Given the description of an element on the screen output the (x, y) to click on. 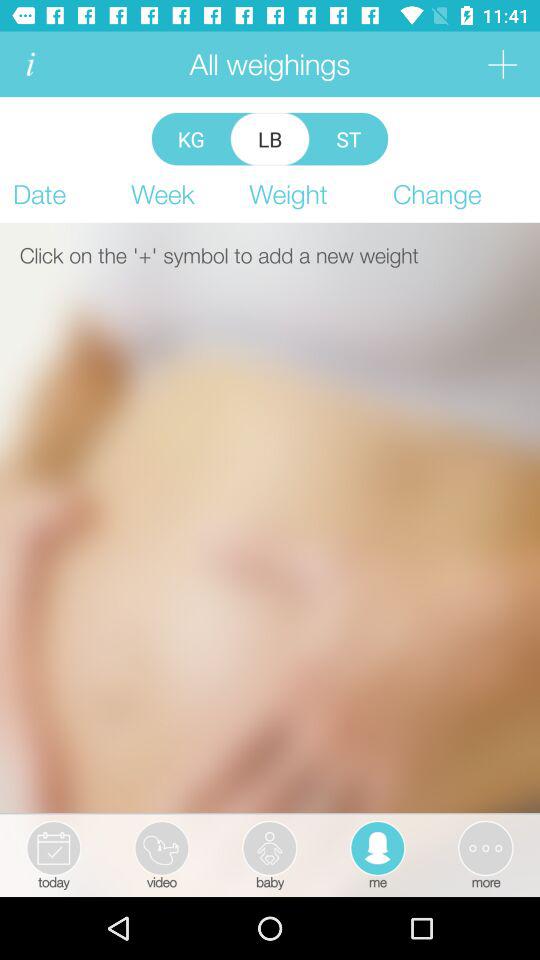
select item above the week item (269, 138)
